Given the description of an element on the screen output the (x, y) to click on. 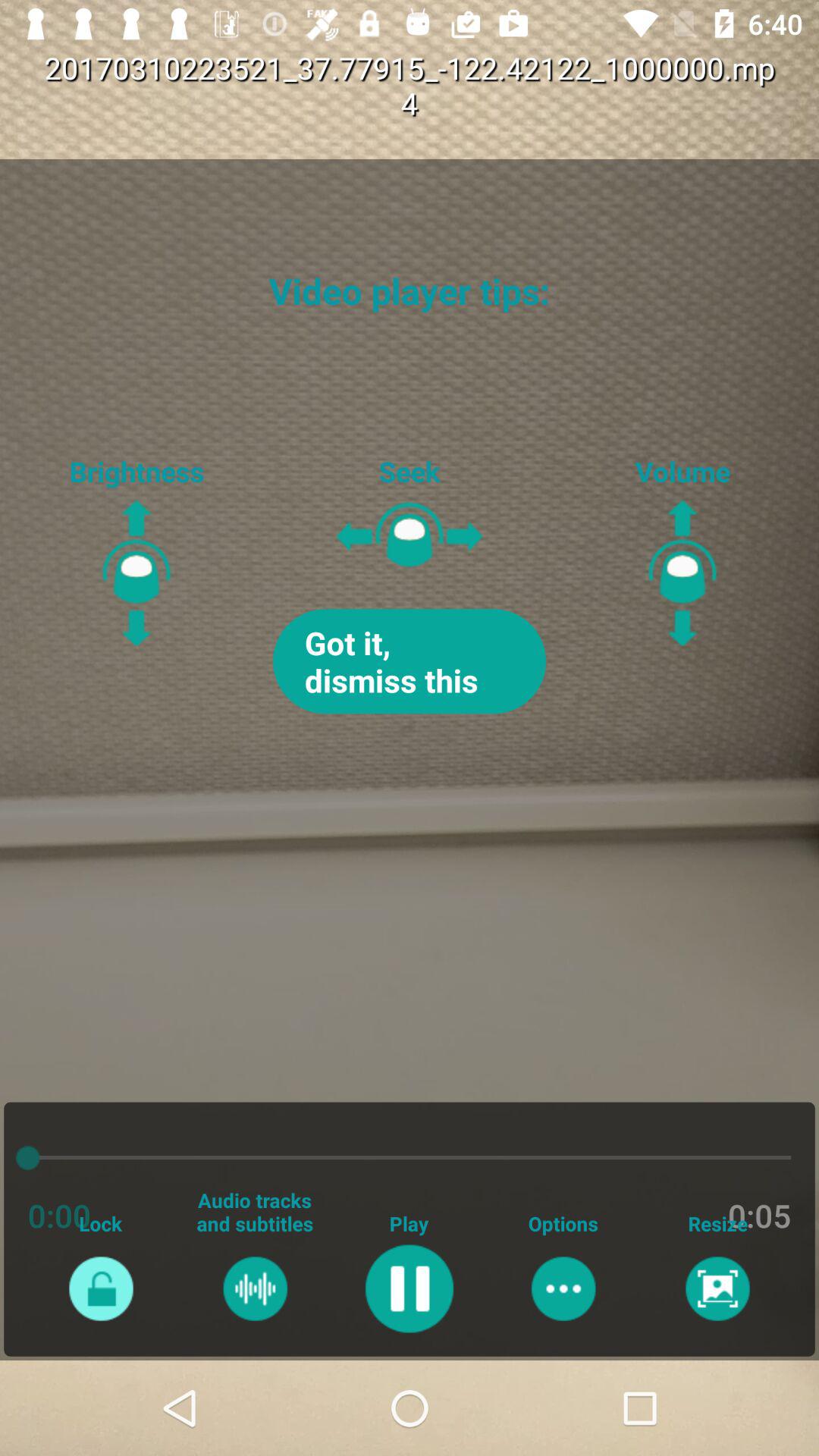
go to options (563, 1288)
